Given the description of an element on the screen output the (x, y) to click on. 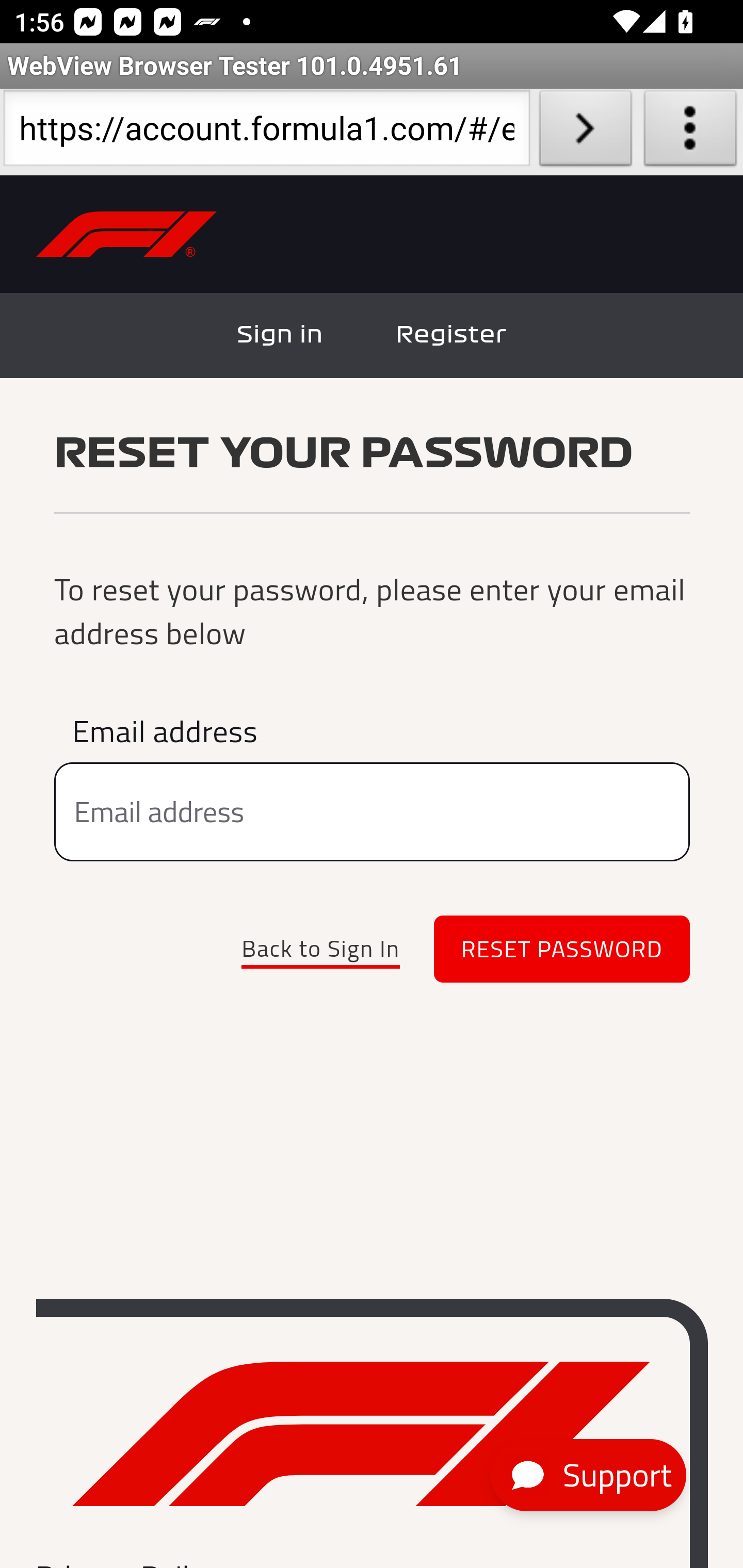
Load URL (585, 132)
About WebView (690, 132)
Formula1 (127, 234)
Sign in (280, 335)
Register (451, 335)
RESET PASSWORD (562, 949)
Back to Sign In (320, 949)
Formula1 (361, 1434)
Support (588, 1476)
